Given the description of an element on the screen output the (x, y) to click on. 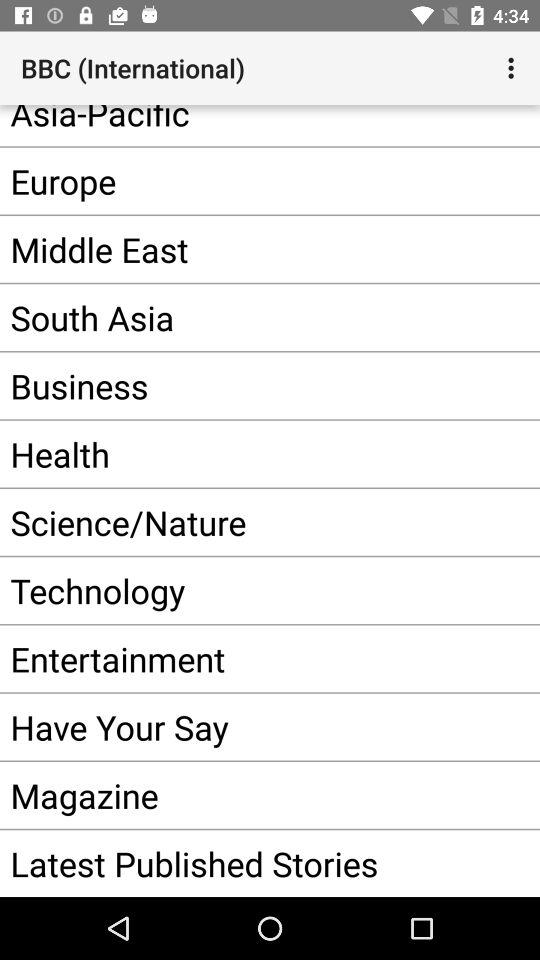
swipe until the asia-pacific icon (240, 125)
